Given the description of an element on the screen output the (x, y) to click on. 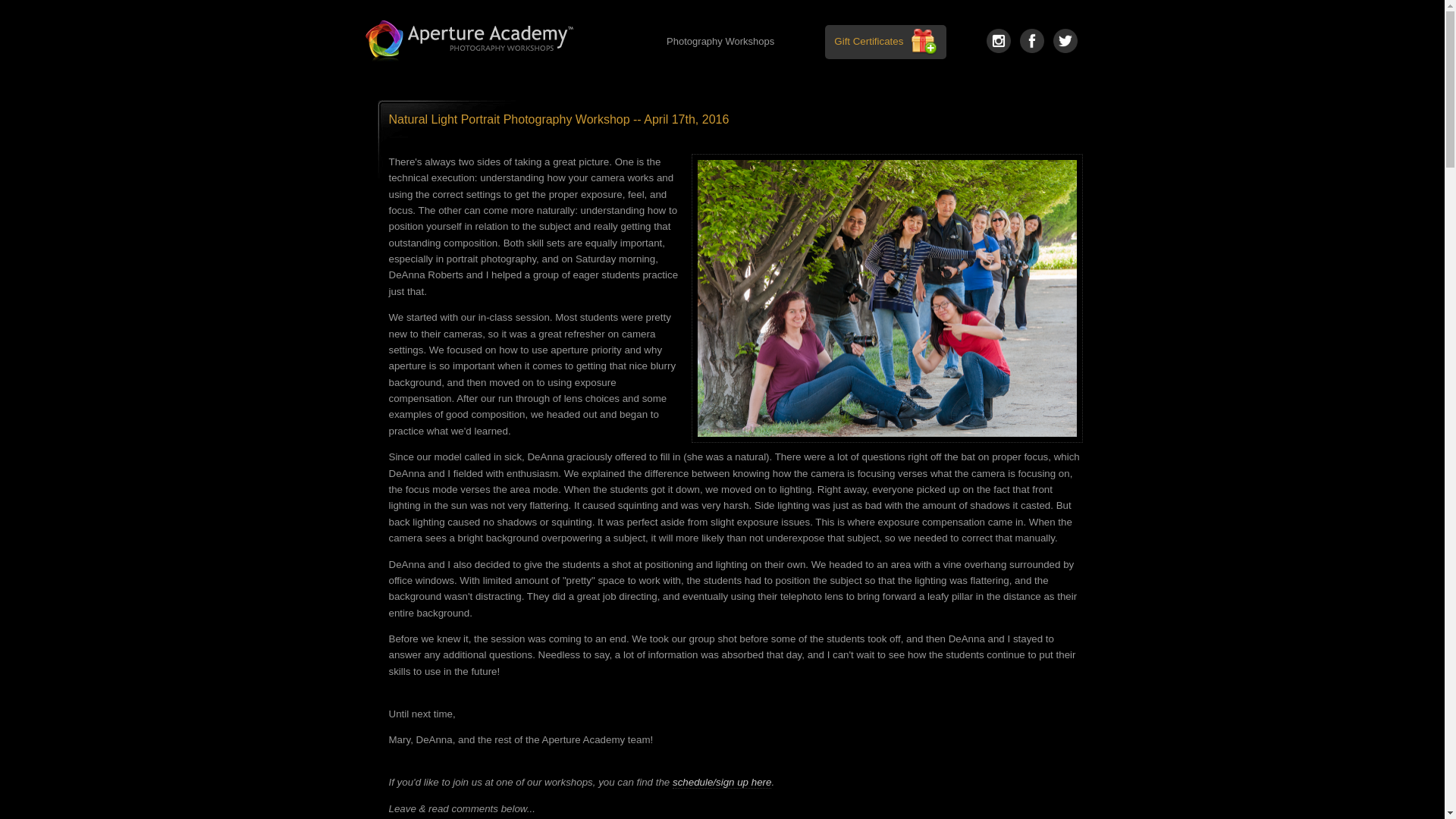
Gift Certificates (868, 41)
Photography Workshops (720, 41)
